Given the description of an element on the screen output the (x, y) to click on. 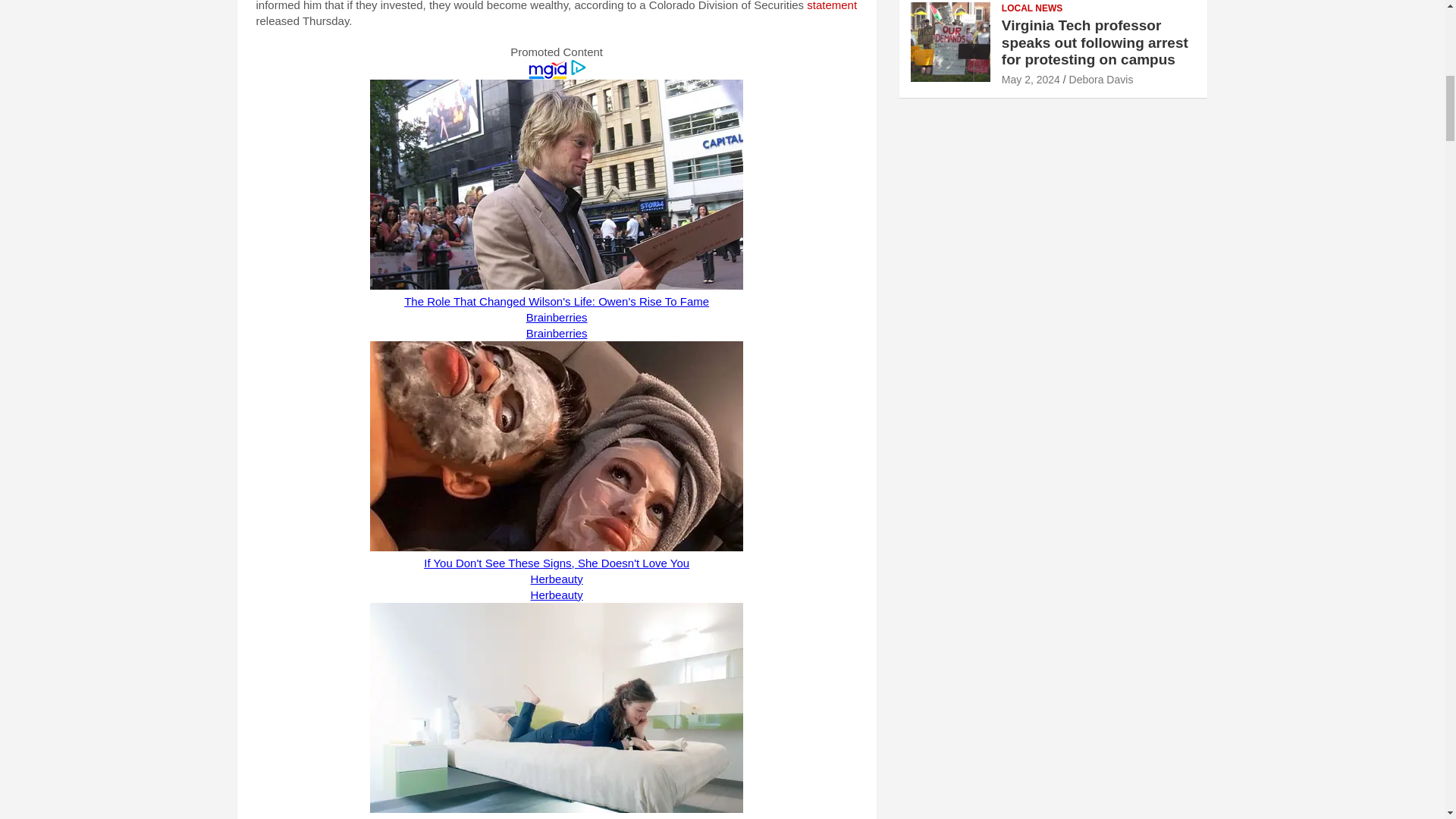
statement (831, 5)
